Given the description of an element on the screen output the (x, y) to click on. 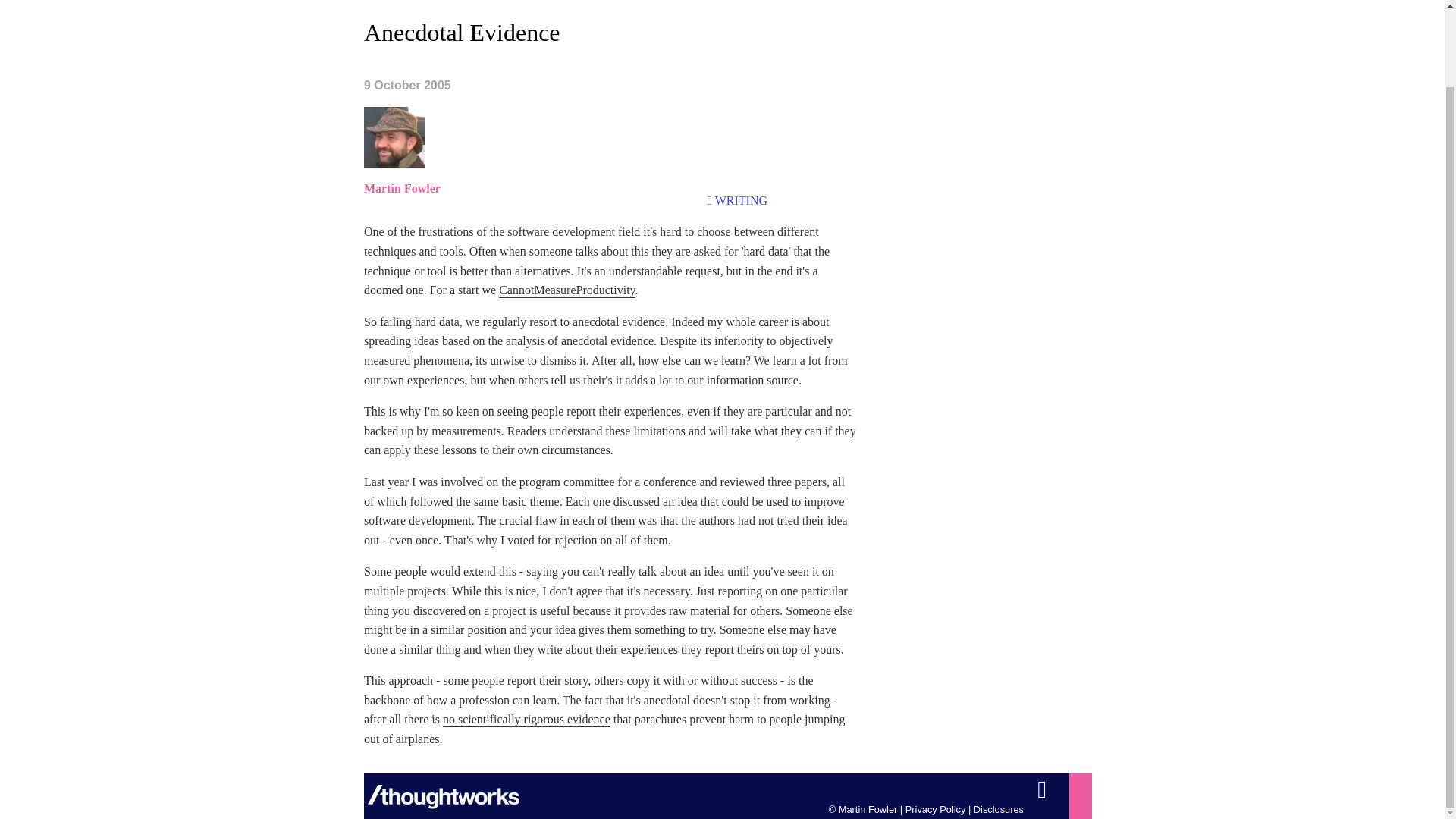
Anecdotal Evidence (462, 31)
WRITING (740, 200)
Photo of Martin Fowler (394, 137)
Martin Fowler (402, 187)
